Given the description of an element on the screen output the (x, y) to click on. 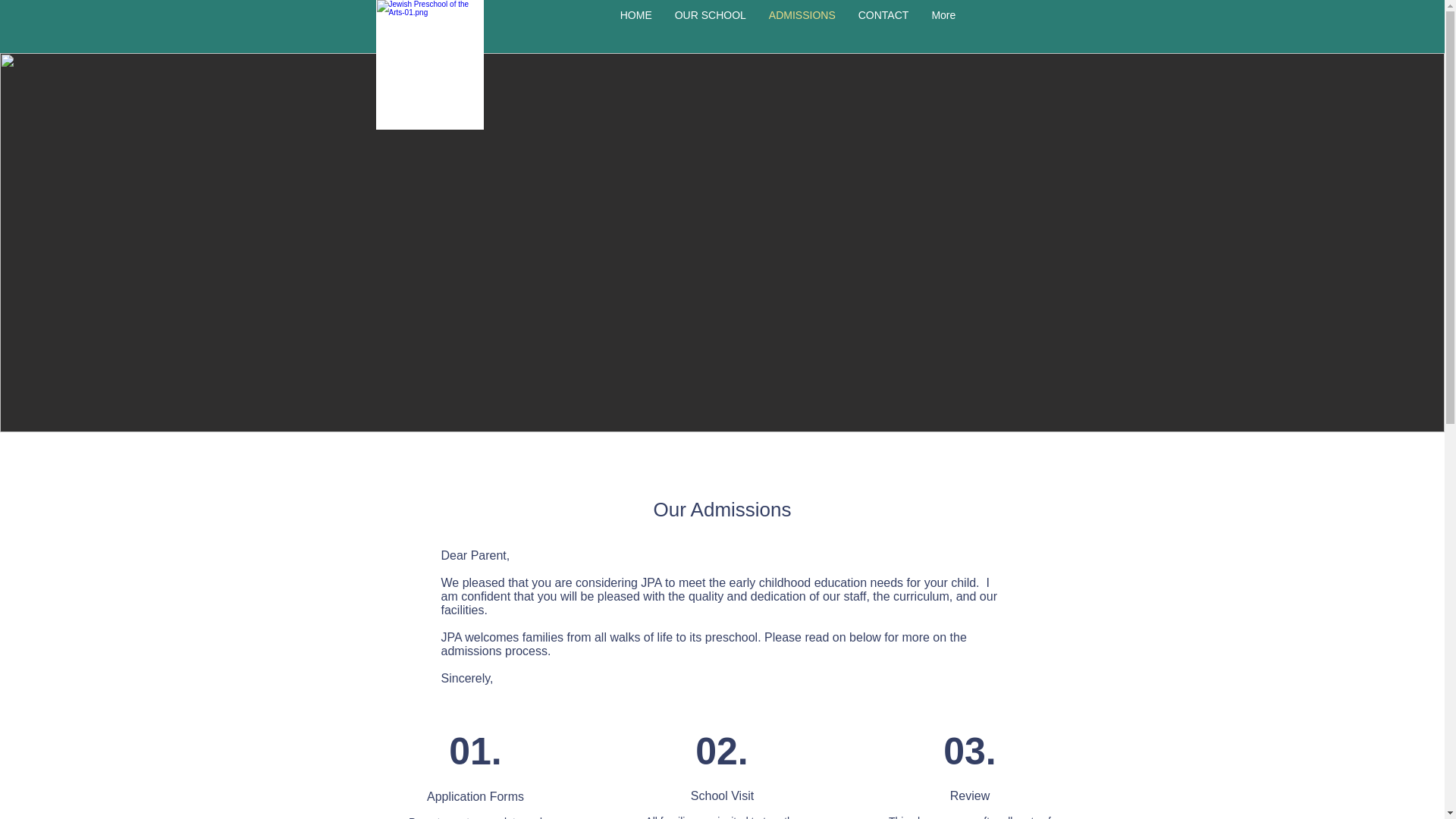
CONTACT (883, 26)
ADMISSIONS (802, 26)
HOME (635, 26)
OUR SCHOOL (710, 26)
